Given the description of an element on the screen output the (x, y) to click on. 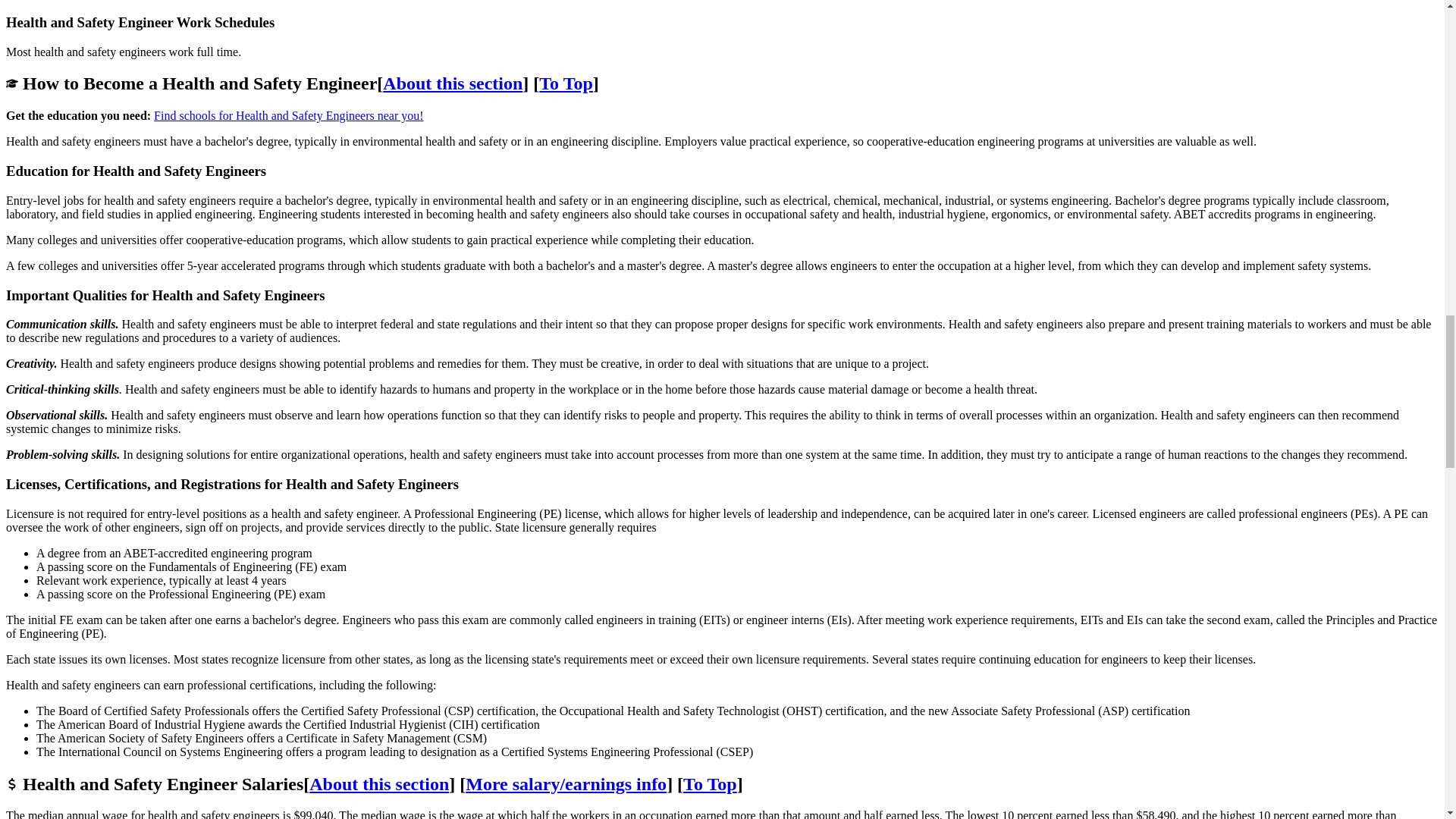
Find schools for Health and Safety Engineers near you! (288, 115)
To Top (565, 83)
To Top (709, 783)
About this section (378, 783)
About this section (452, 83)
